Given the description of an element on the screen output the (x, y) to click on. 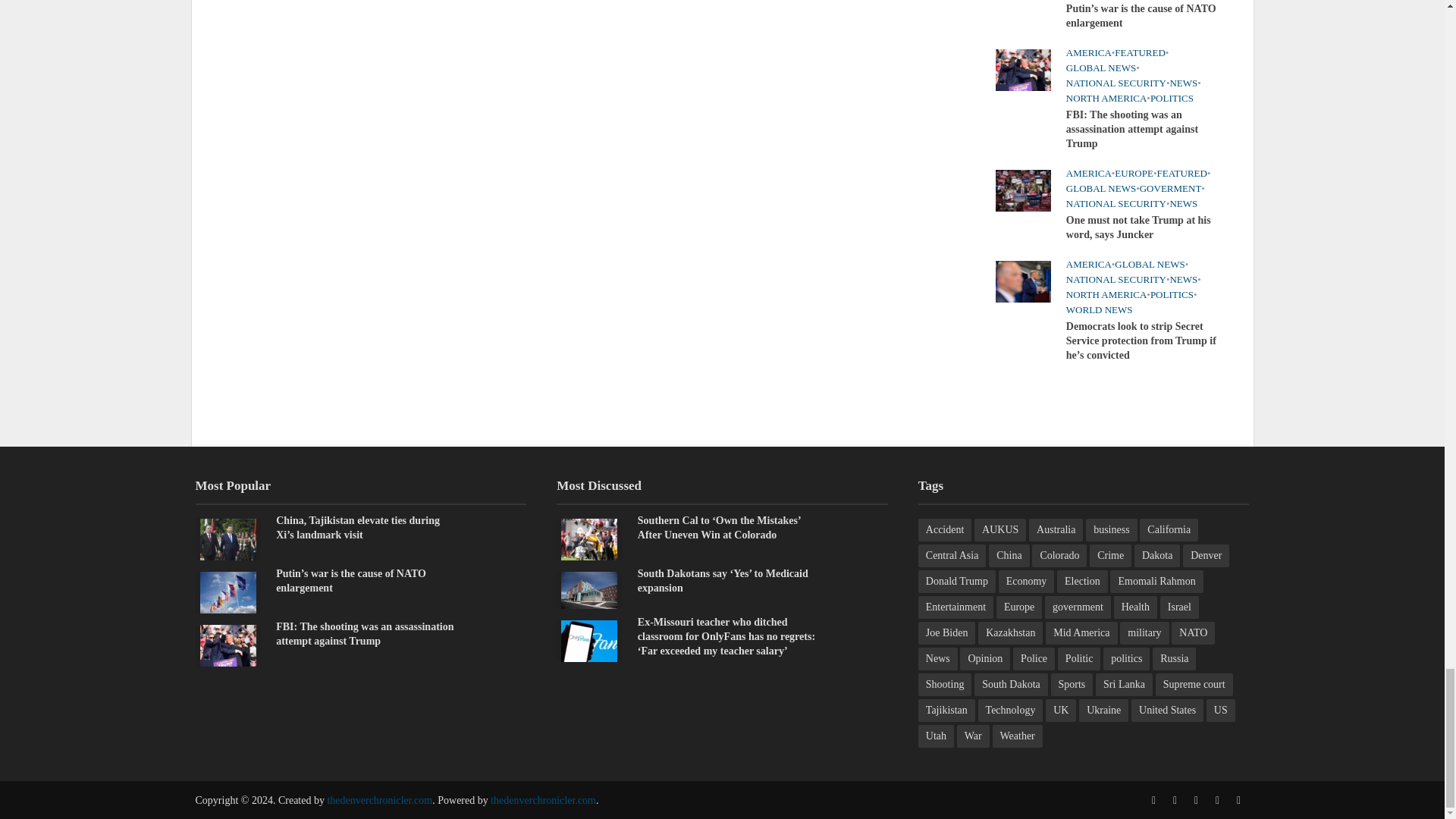
FBI: The shooting was an assassination attempt against Trump (228, 644)
FBI: The shooting was an assassination attempt against Trump (1021, 69)
One must not take Trump at his word, says Juncker (1021, 189)
